Given the description of an element on the screen output the (x, y) to click on. 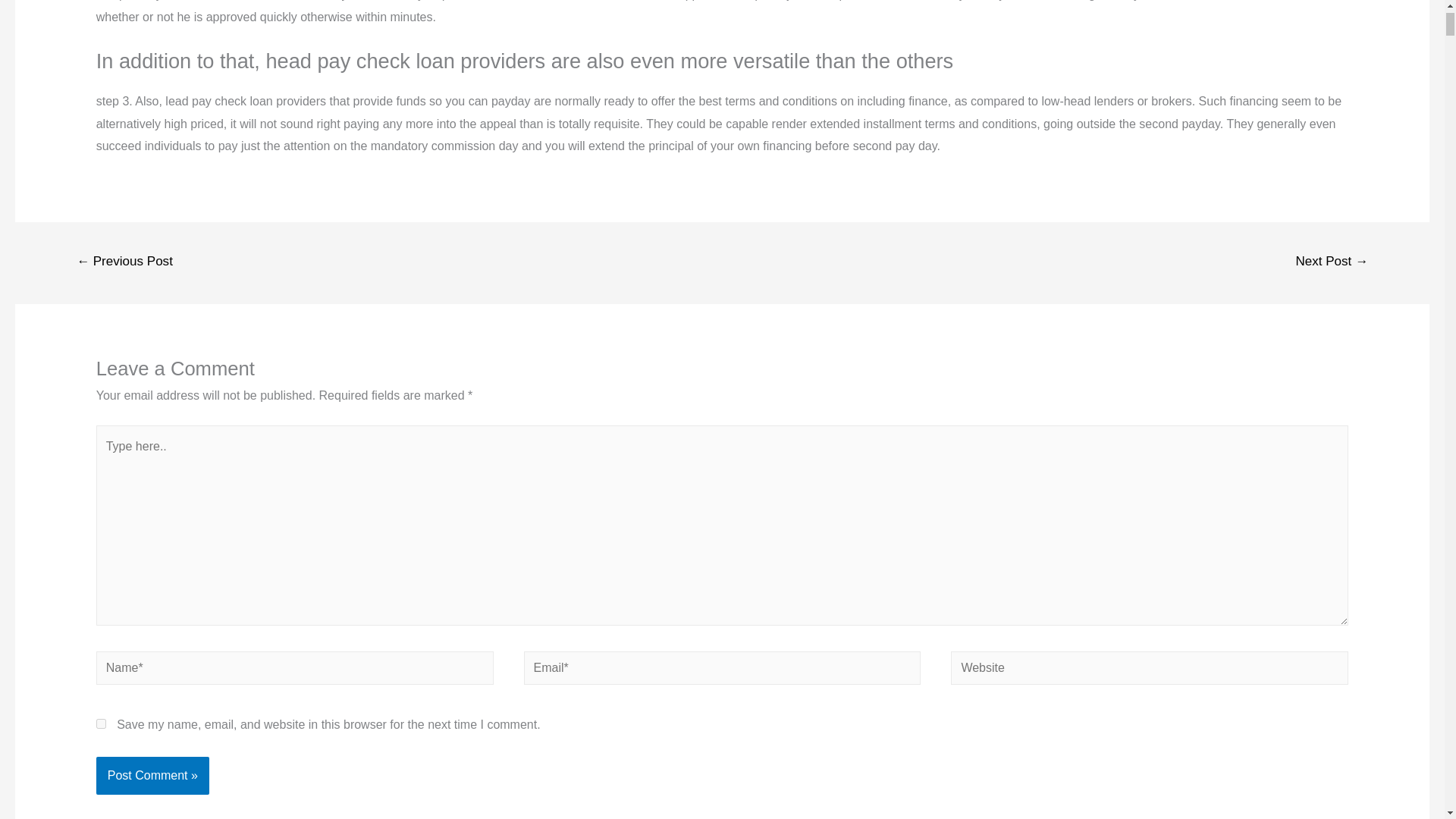
yes (101, 723)
